Given the description of an element on the screen output the (x, y) to click on. 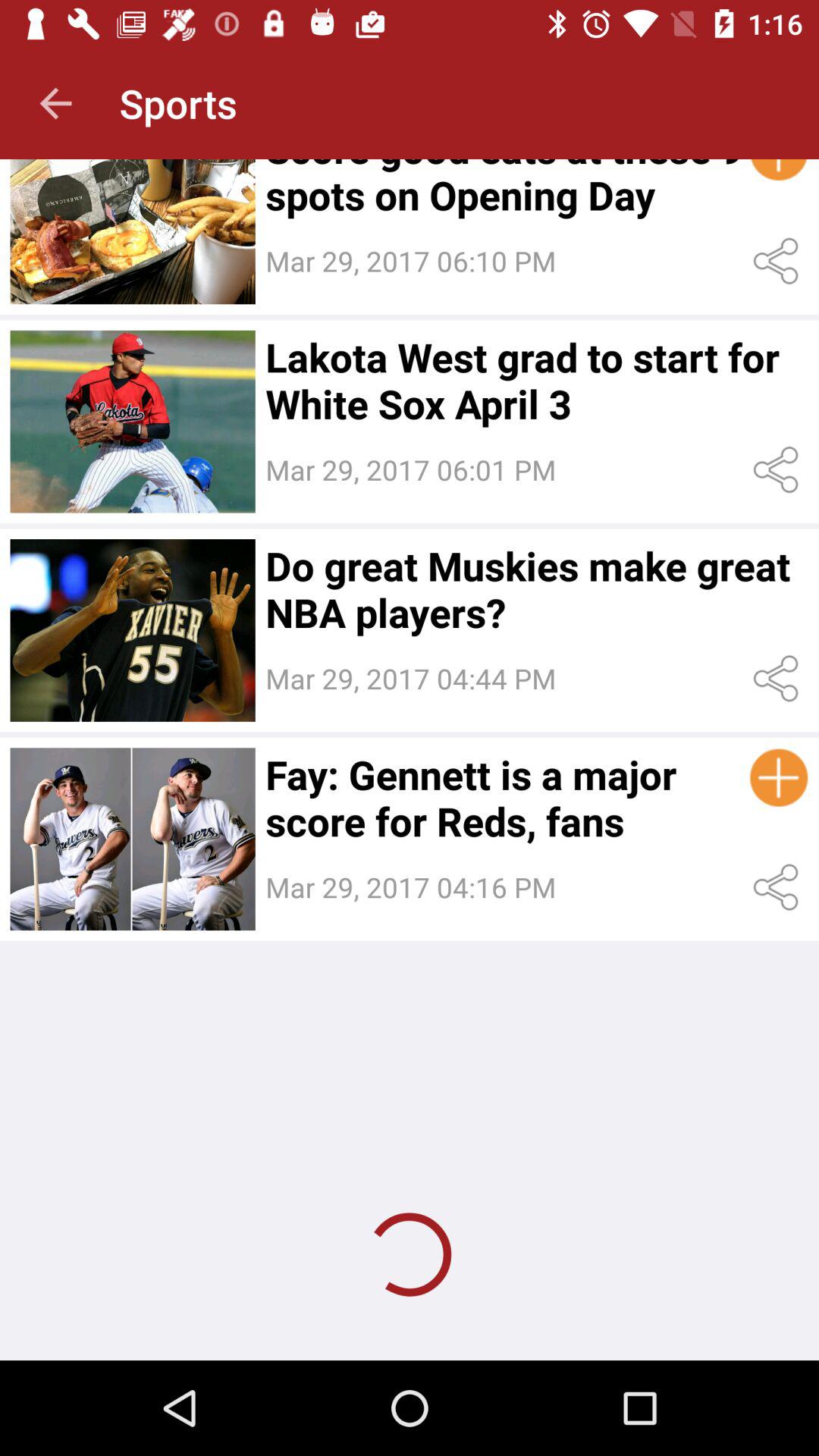
share the article (778, 887)
